Given the description of an element on the screen output the (x, y) to click on. 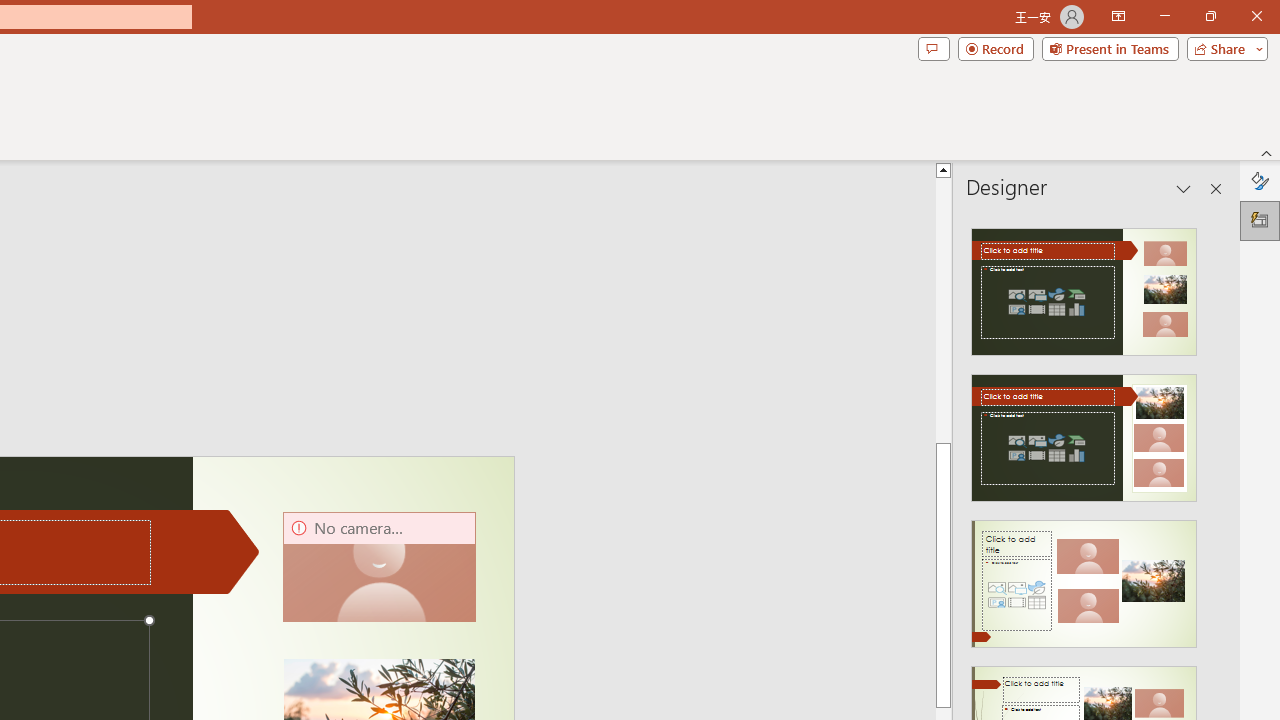
Recommended Design: Design Idea (1083, 286)
Camera 7, No camera detected. (379, 566)
Format Background (1260, 180)
